Given the description of an element on the screen output the (x, y) to click on. 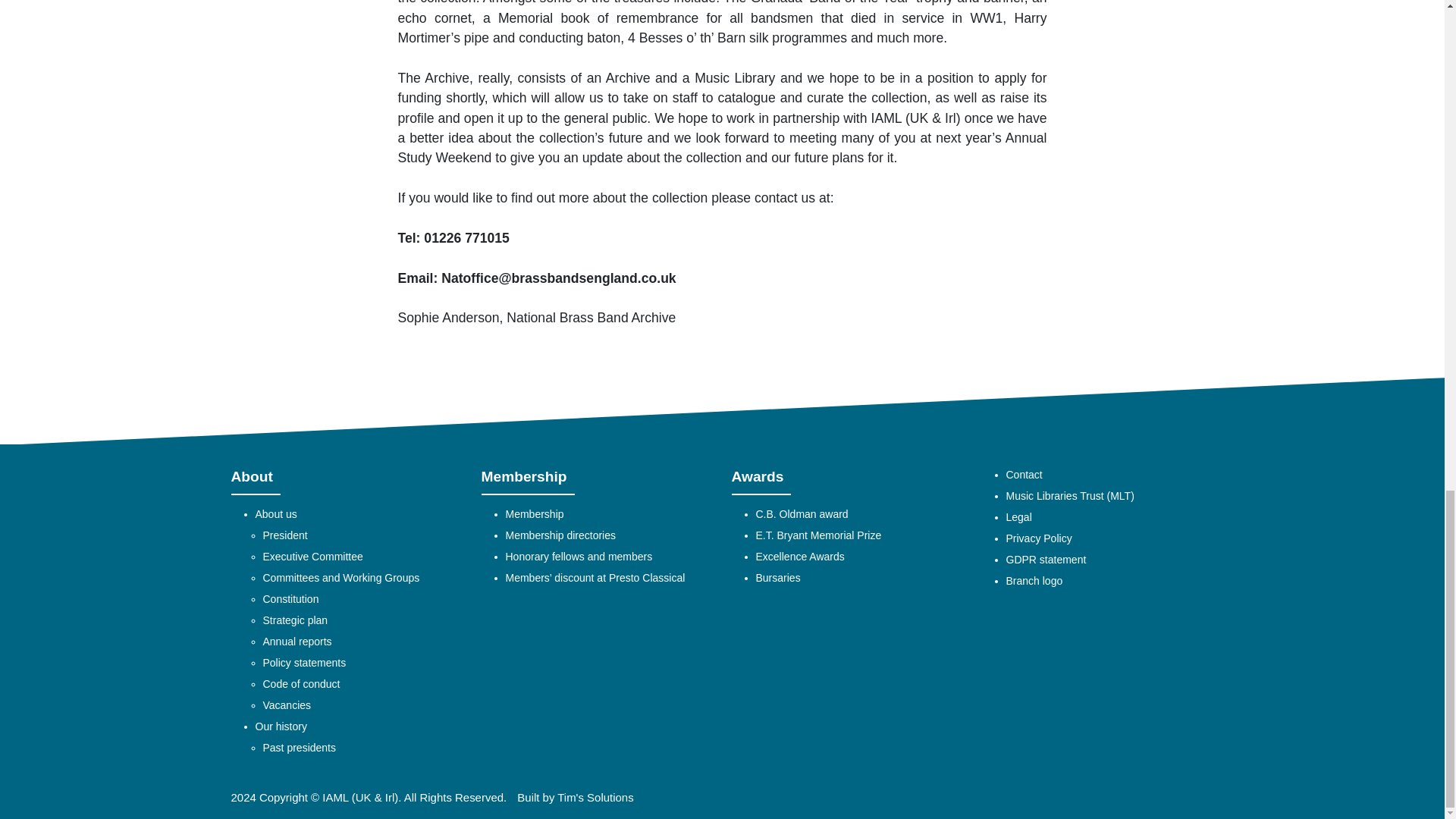
Committees and Working Groups (340, 579)
Annual reports (296, 642)
Code of conduct (300, 684)
Honorary fellows and members (578, 557)
Our history (279, 727)
Vacancies (286, 705)
Excellence Awards (799, 557)
Policy statements (304, 663)
Constitution (290, 600)
About us (275, 515)
